Given the description of an element on the screen output the (x, y) to click on. 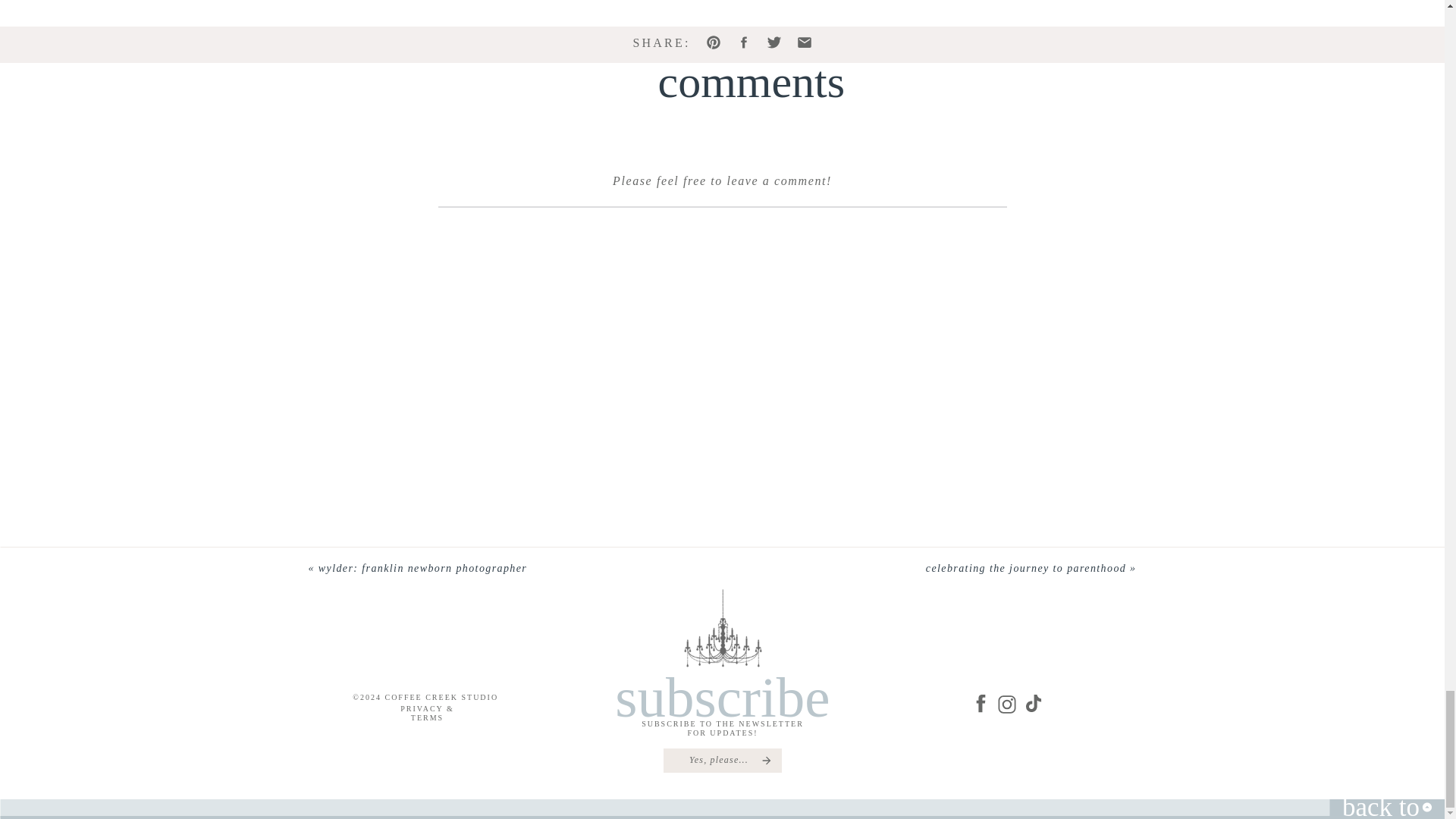
Yes, please... (718, 760)
celebrating the journey to parenthood (1025, 568)
wylder: franklin newborn photographer (422, 568)
